Given the description of an element on the screen output the (x, y) to click on. 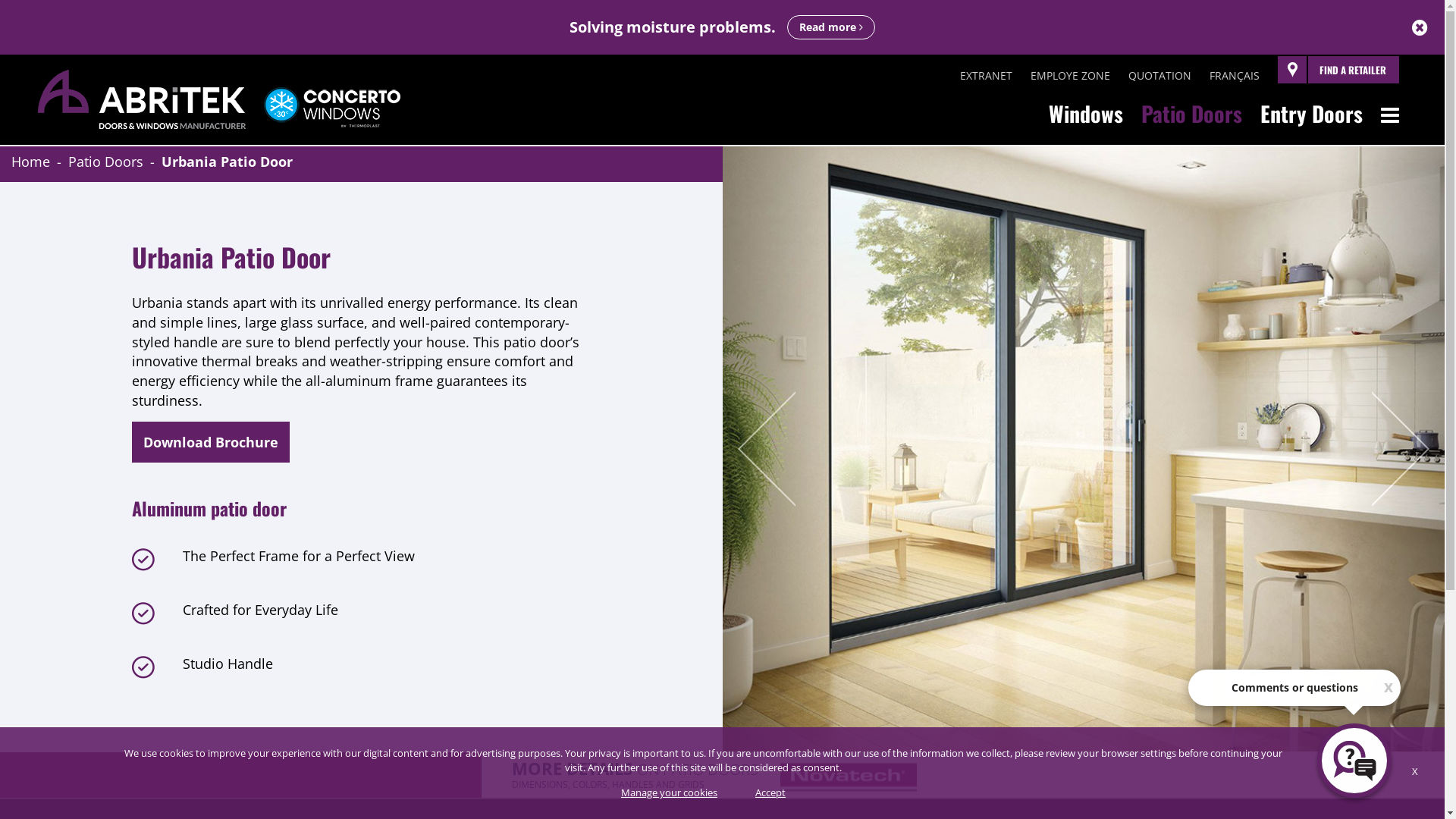
FIND A RETAILER Element type: text (1338, 69)
Accept Element type: text (770, 792)
Entry Doors Element type: text (1311, 112)
Manage your cookies Element type: text (669, 792)
Download Brochure Element type: text (210, 441)
Windows Element type: text (1085, 112)
EXTRANET Element type: text (986, 75)
Urbania Patio Door Element type: text (226, 161)
Patio Doors Element type: text (1191, 112)
Read more Element type: text (831, 27)
Home Element type: text (30, 161)
QUOTATION Element type: text (1159, 75)
EMPLOYE ZONE Element type: text (1070, 75)
